Given the description of an element on the screen output the (x, y) to click on. 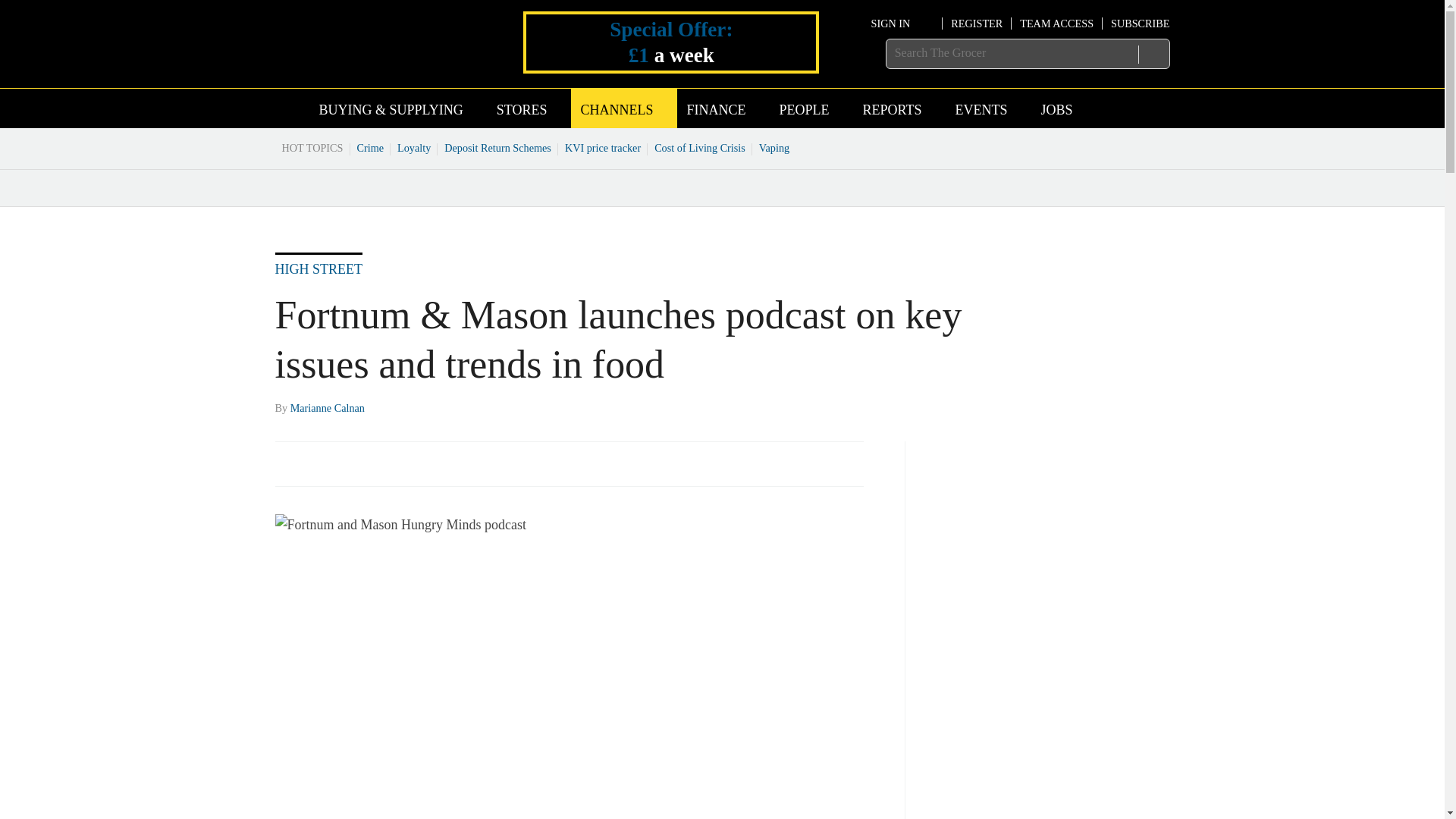
TEAM ACCESS (1056, 23)
Deposit Return Schemes (497, 147)
KVI price tracker (602, 147)
Crime (370, 147)
Share this on Facebook (288, 462)
SIGN IN (902, 23)
Email this article (386, 462)
No comments (840, 472)
REGISTER (976, 23)
Site name (363, 65)
